Given the description of an element on the screen output the (x, y) to click on. 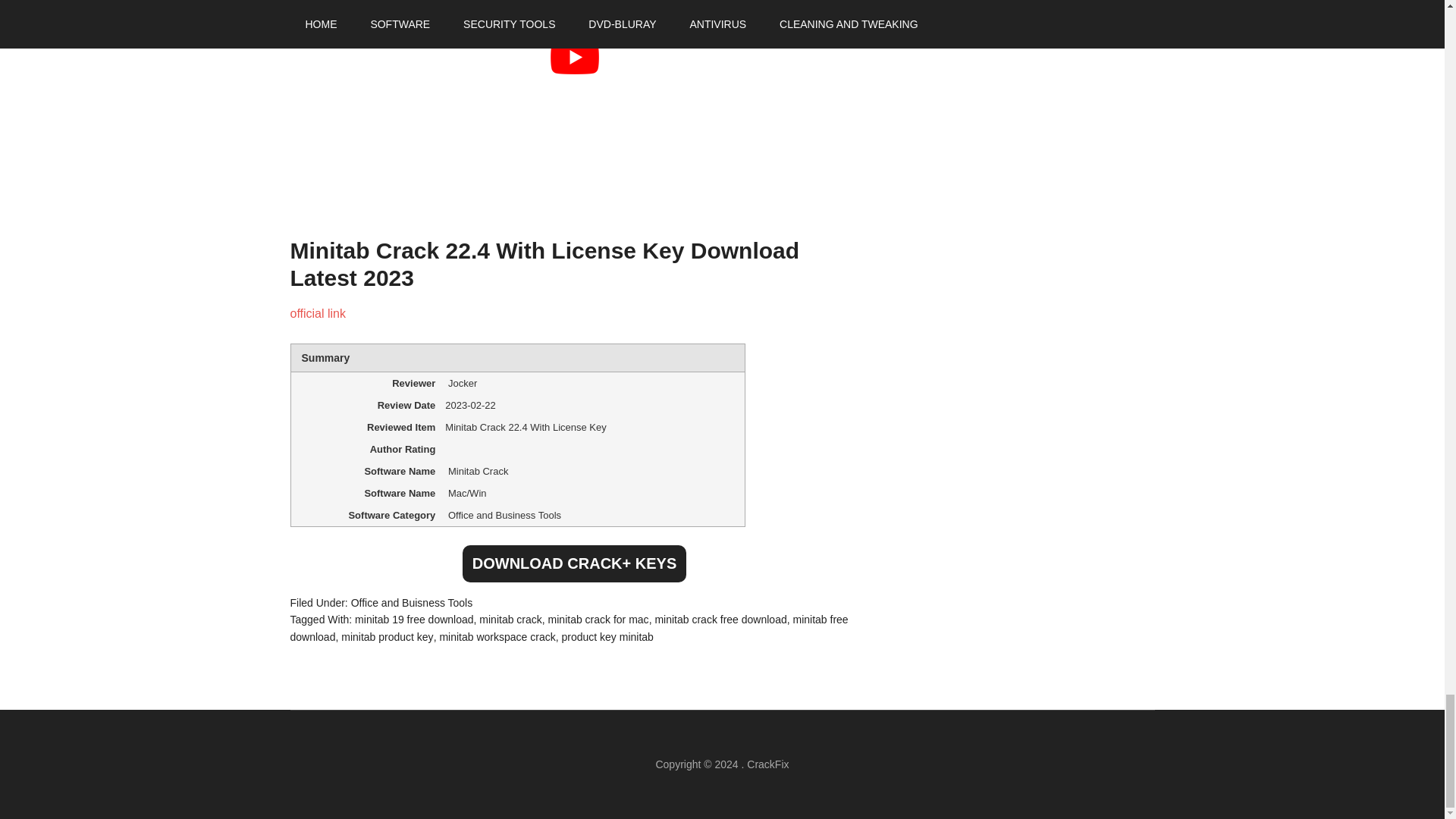
product key minitab (606, 636)
minitab free download (568, 627)
official link (317, 313)
minitab 19 free download (414, 619)
minitab crack for mac (598, 619)
minitab crack free download (719, 619)
minitab workspace crack (496, 636)
Office and Buisness Tools (411, 603)
minitab crack (510, 619)
minitab product key (386, 636)
